Given the description of an element on the screen output the (x, y) to click on. 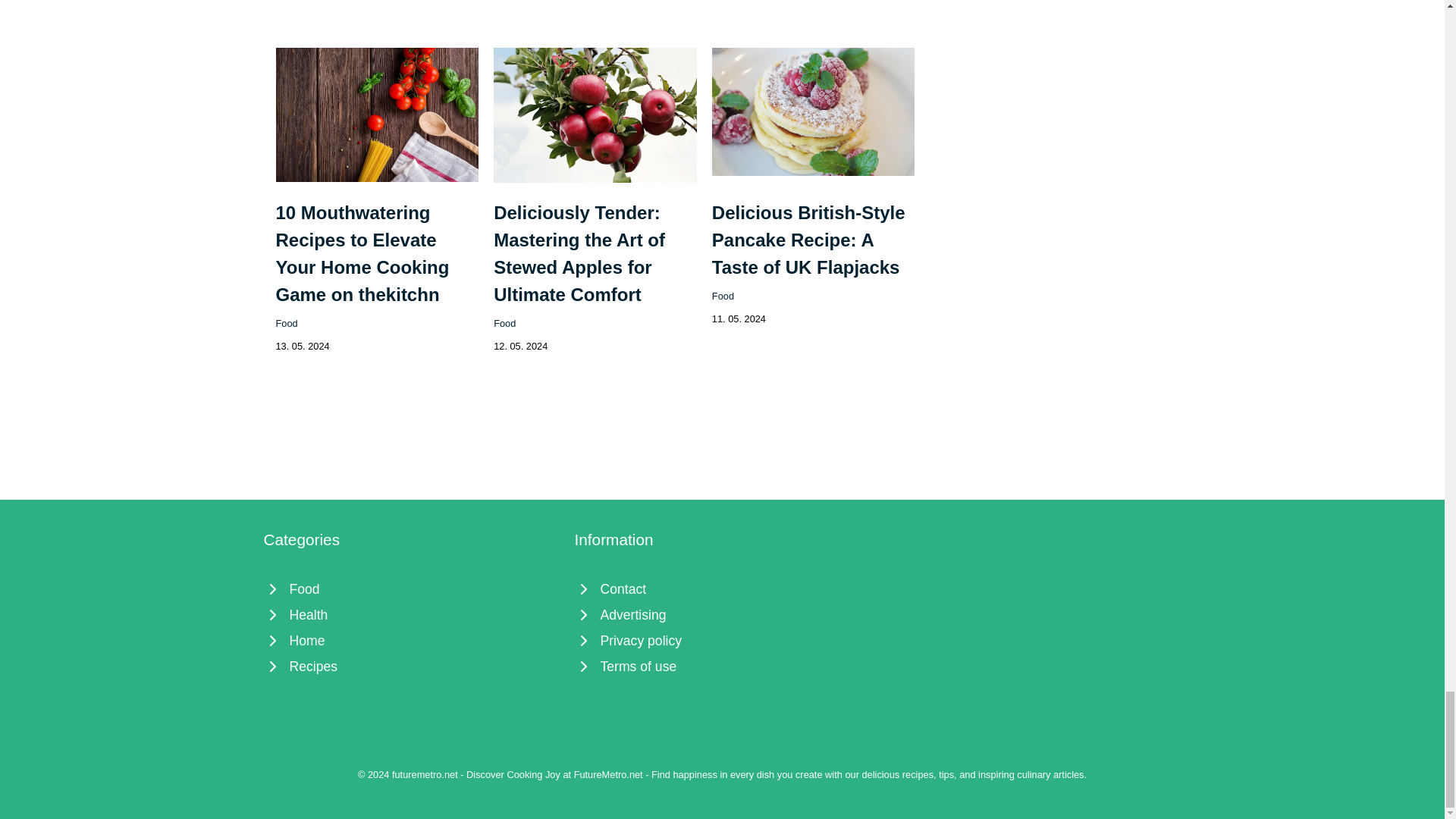
Privacy policy (722, 640)
Health (411, 614)
Food (411, 588)
Food (287, 323)
Contact (722, 588)
Recipes (411, 666)
Food (504, 323)
Home (411, 640)
Advertising (722, 614)
Food (722, 296)
Terms of use (722, 666)
